Given the description of an element on the screen output the (x, y) to click on. 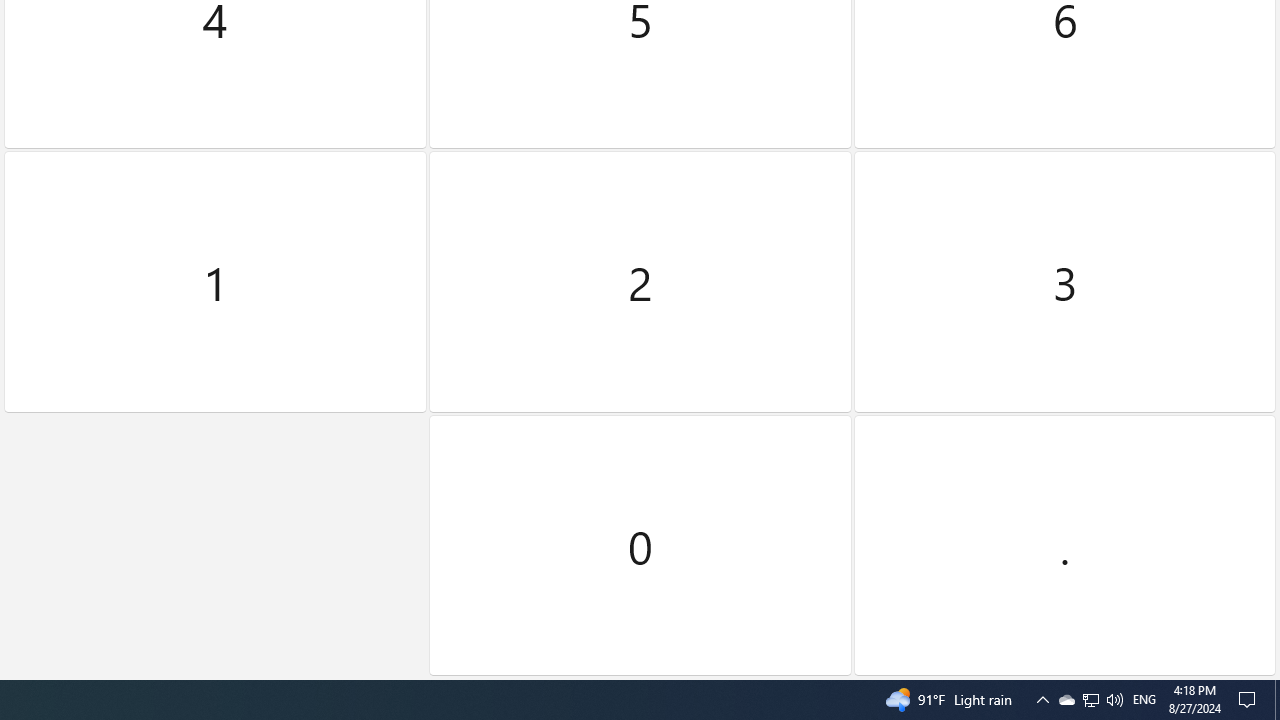
Zero (640, 545)
Three (1064, 282)
One (215, 282)
Decimal separator (1064, 545)
Two (640, 282)
